Given the description of an element on the screen output the (x, y) to click on. 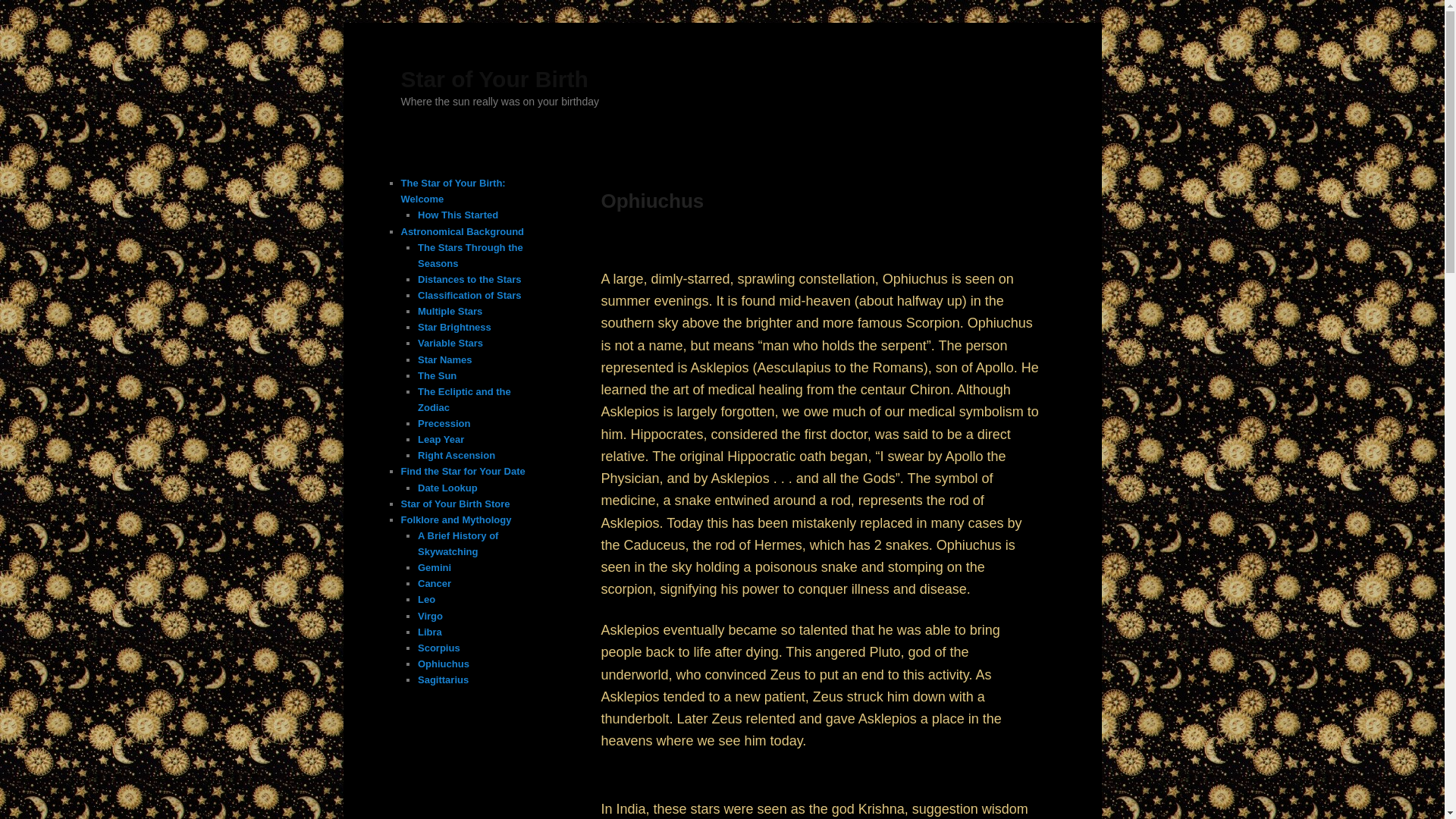
How This Started (457, 214)
Star of Your Birth (494, 78)
The Star of Your Birth: Welcome (452, 190)
Star of Your Birth (494, 78)
Astronomical Background (462, 231)
The Stars Through the Seasons (469, 255)
